Given the description of an element on the screen output the (x, y) to click on. 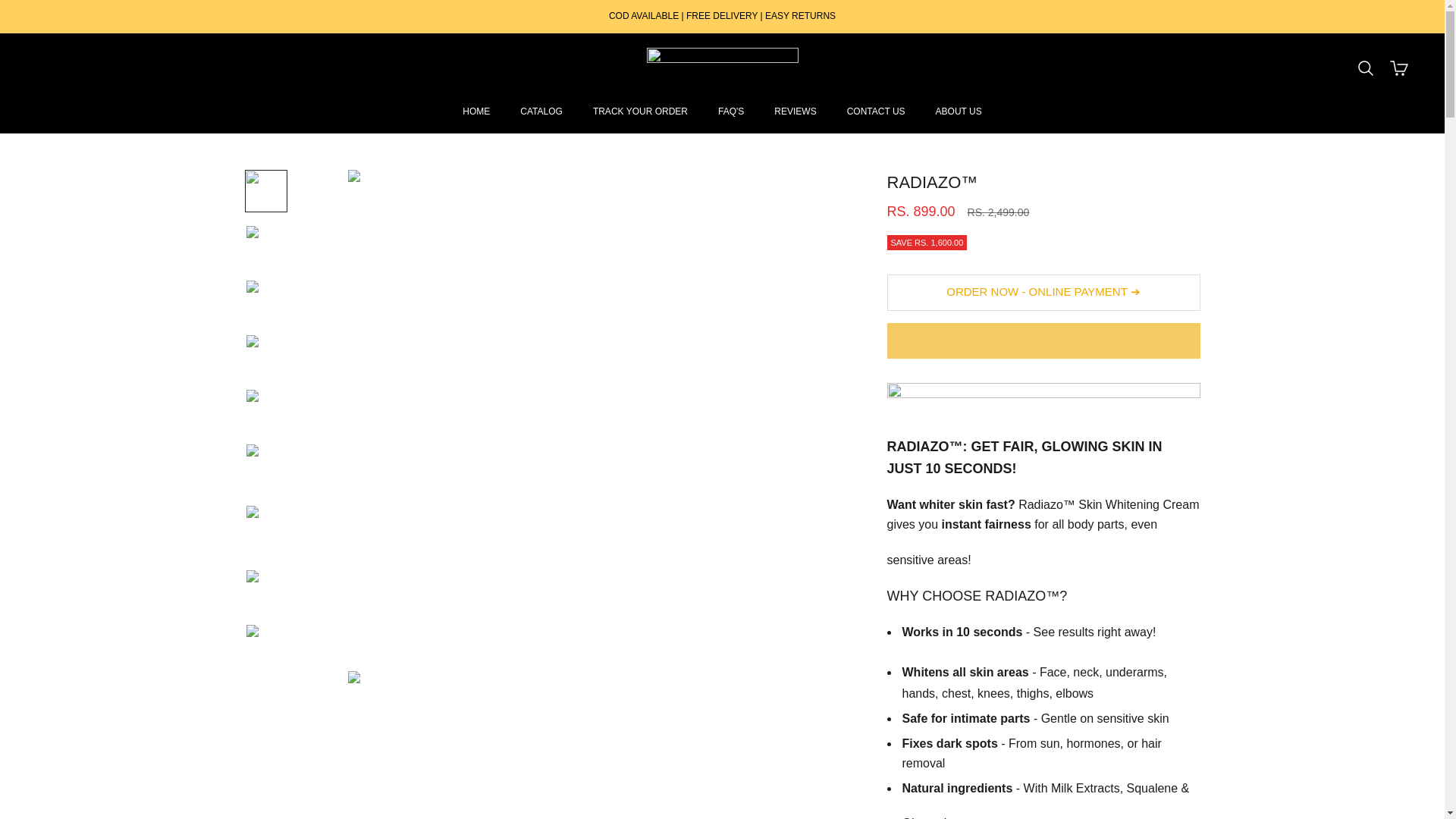
CONTACT US (876, 111)
FAQ'S (730, 111)
ABOUT US (958, 111)
CATALOG (540, 111)
HOME (476, 111)
REVIEWS (794, 111)
TRACK YOUR ORDER (639, 111)
Open search (1365, 67)
Open cart (1398, 67)
